Given the description of an element on the screen output the (x, y) to click on. 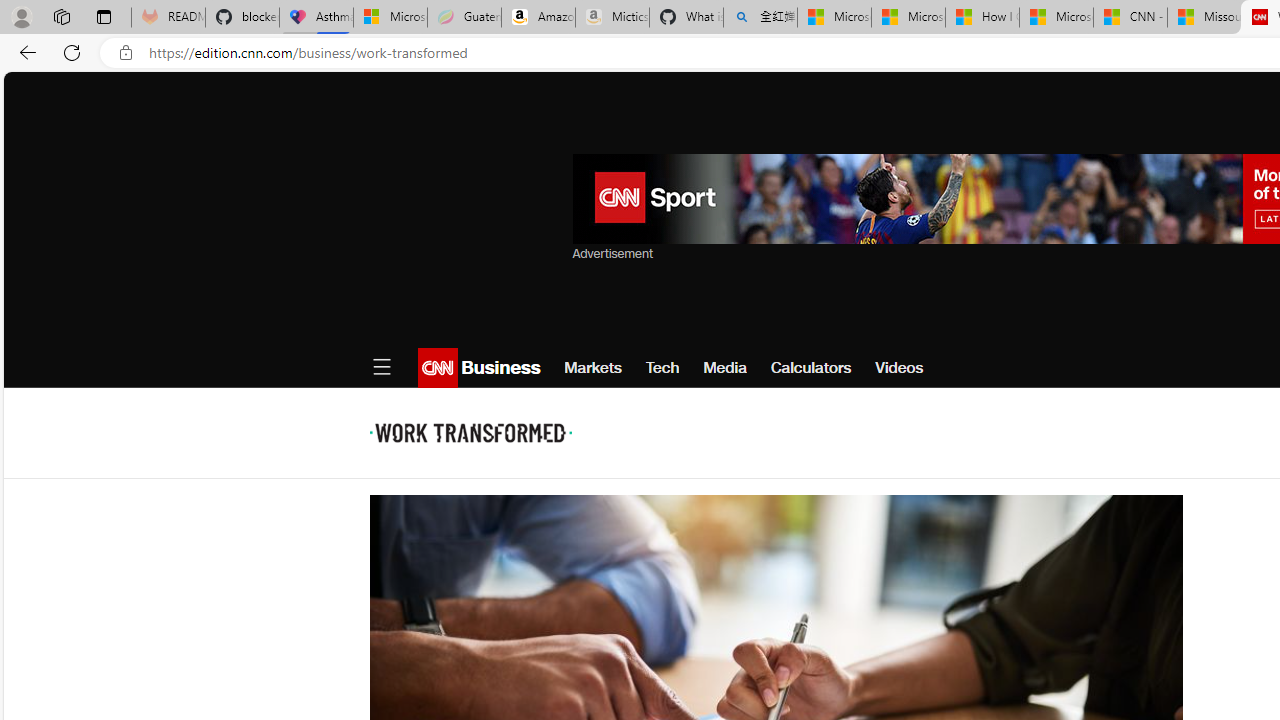
How I Got Rid of Microsoft Edge's Unnecessary Features (981, 17)
CNN - MSN (1130, 17)
Media (724, 367)
Work Transformed (470, 432)
Work Transformed (470, 432)
Markets (593, 367)
Tech (662, 367)
